Given the description of an element on the screen output the (x, y) to click on. 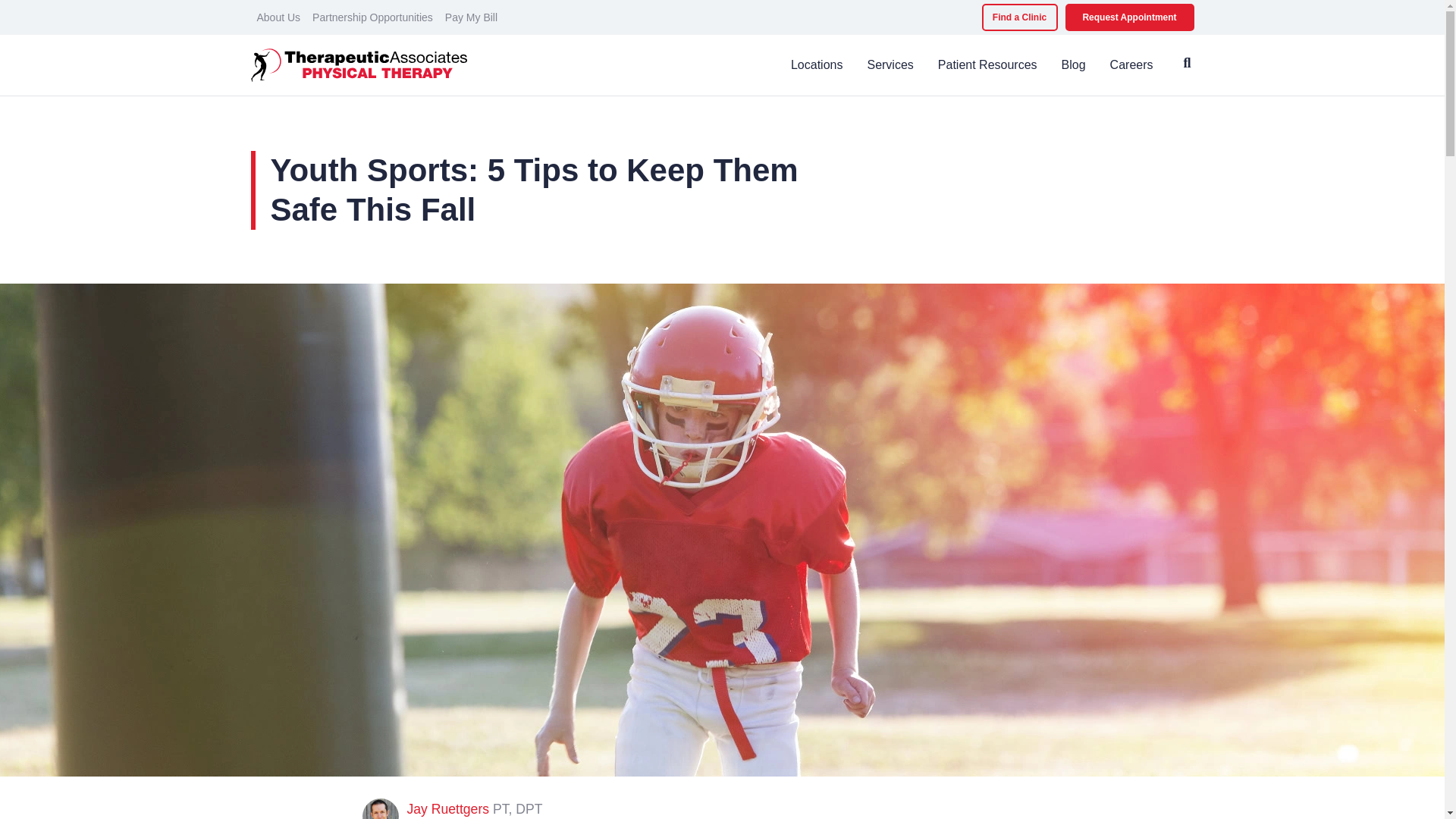
Partnership Opportunities (372, 16)
Find a Clinic (1019, 17)
About Us (277, 16)
Pay My Bill (471, 16)
